Given the description of an element on the screen output the (x, y) to click on. 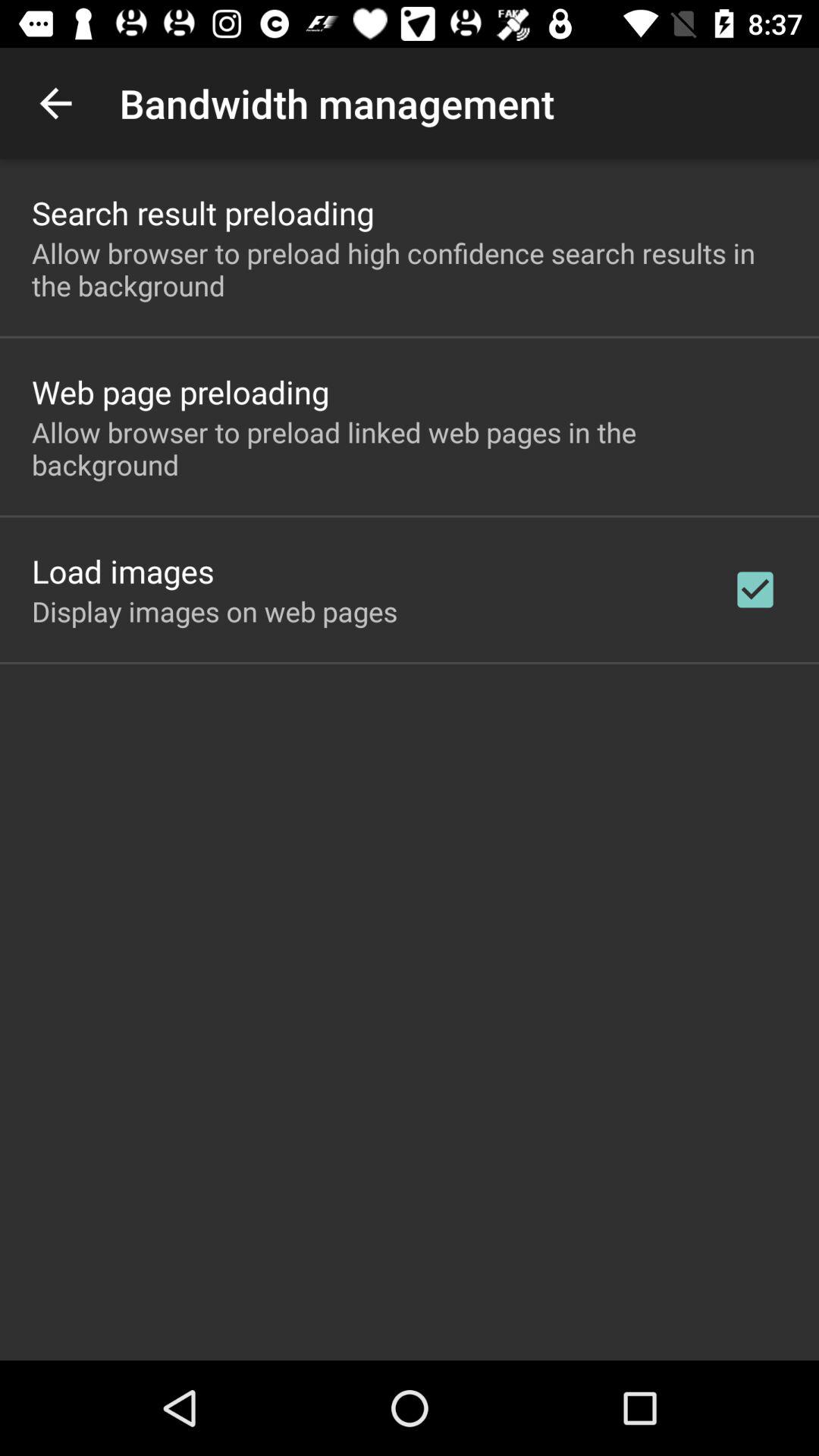
select the app below allow browser to icon (755, 589)
